Given the description of an element on the screen output the (x, y) to click on. 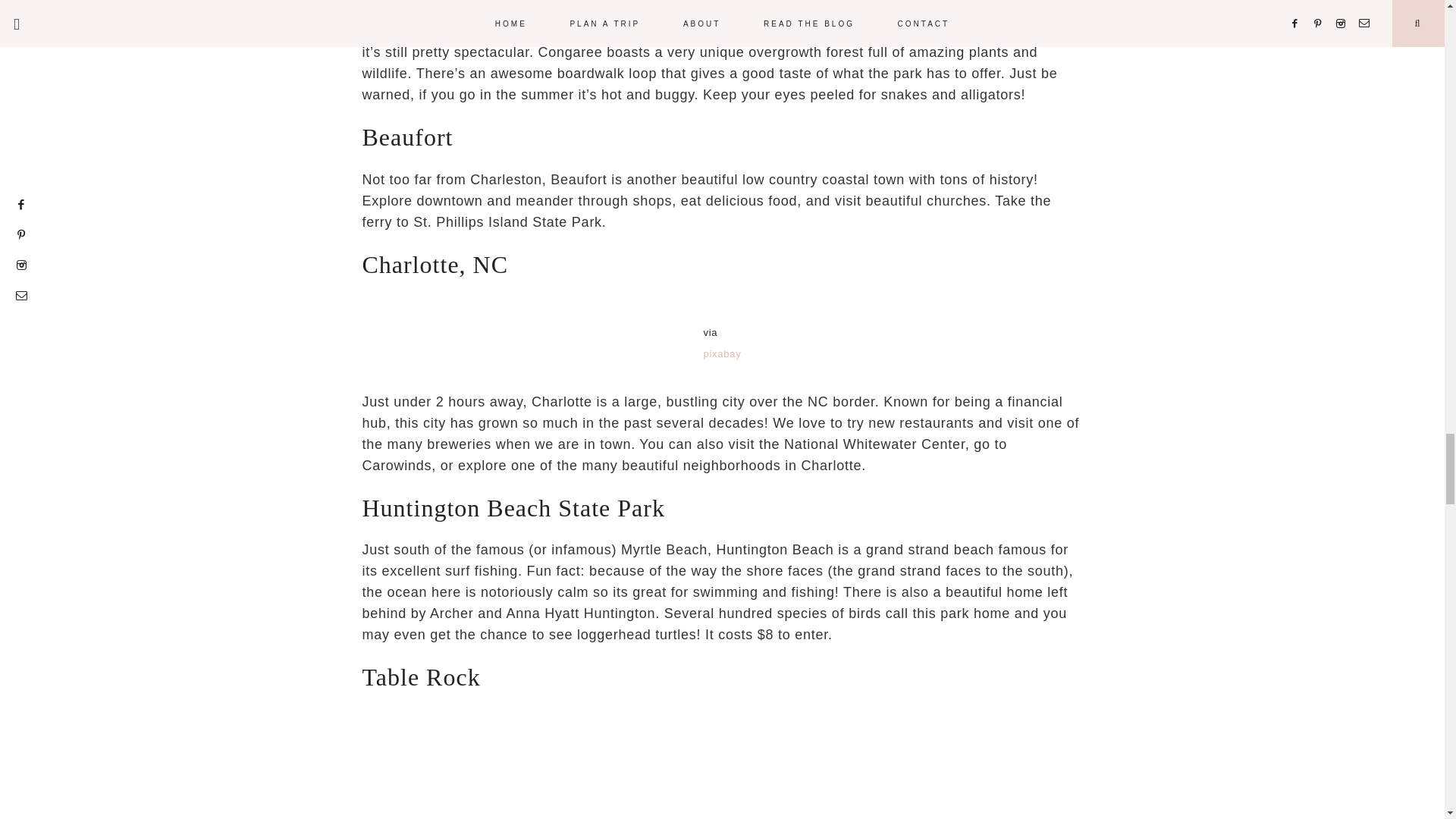
pixabay (722, 353)
